Given the description of an element on the screen output the (x, y) to click on. 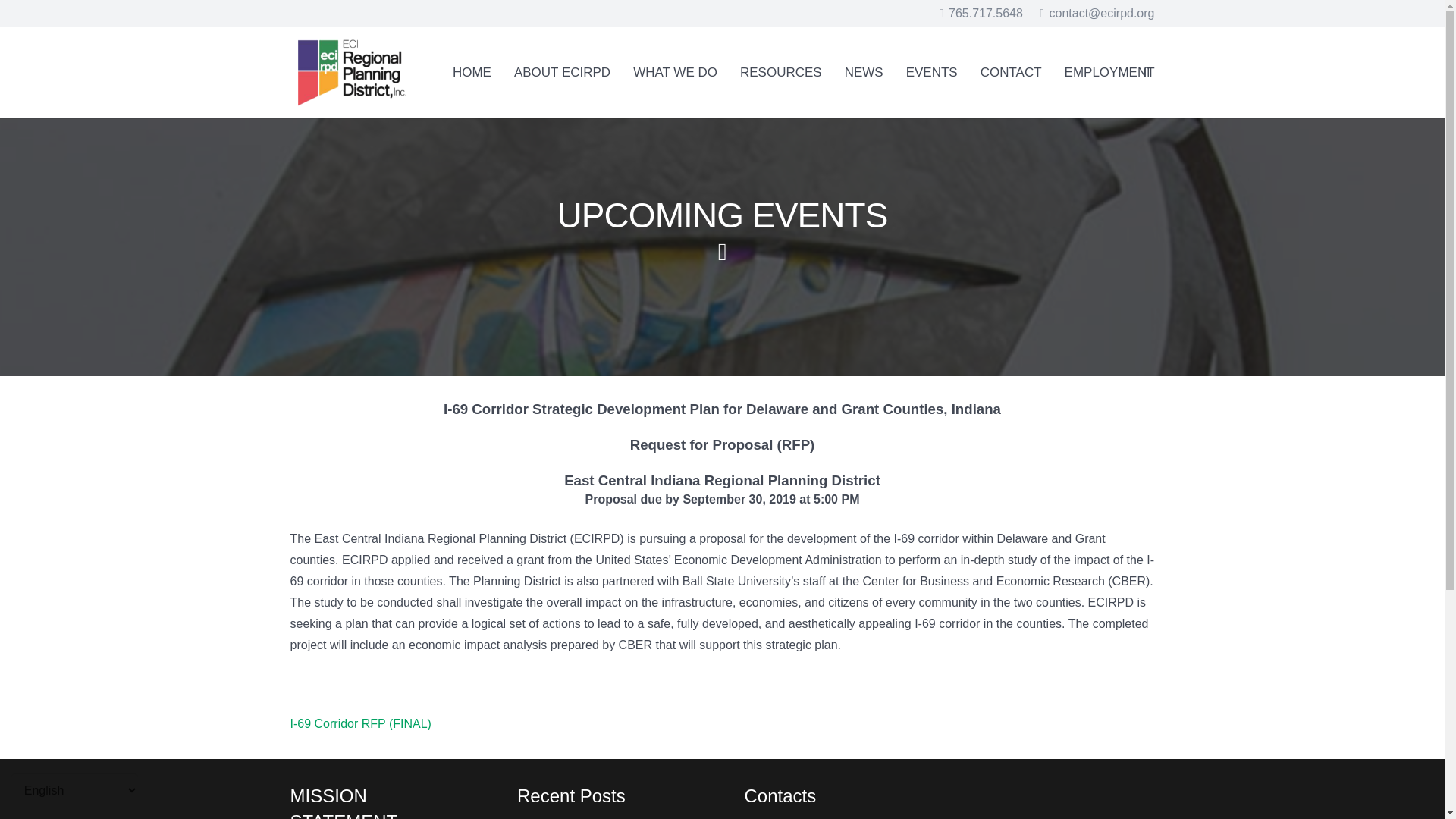
EMPLOYMENT (1109, 72)
WHAT WE DO (675, 72)
CONTACT (1010, 72)
ABOUT ECIRPD (561, 72)
RESOURCES (780, 72)
